Given the description of an element on the screen output the (x, y) to click on. 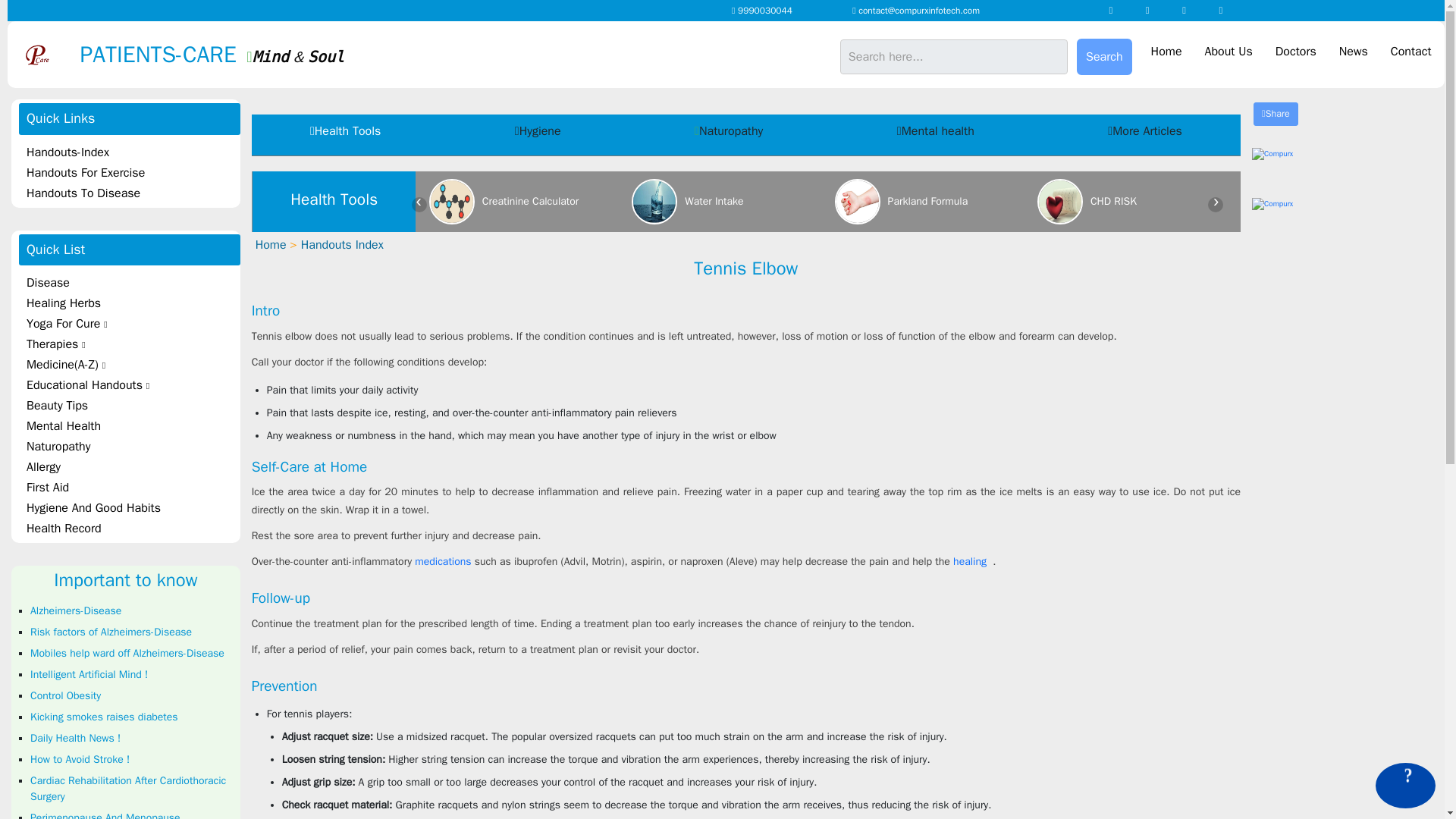
About Us (1228, 51)
Search (1104, 55)
Disease (129, 282)
PATIENTS-CARE (129, 53)
Search (1104, 55)
Handouts-Index (129, 152)
Doctors (1295, 51)
Yoga For Cure (129, 323)
Therapies (129, 344)
Handouts For Exercise (129, 172)
News (1352, 51)
Handouts To Disease (129, 193)
Healing Herbs (129, 303)
Patients Care (129, 53)
